Given the description of an element on the screen output the (x, y) to click on. 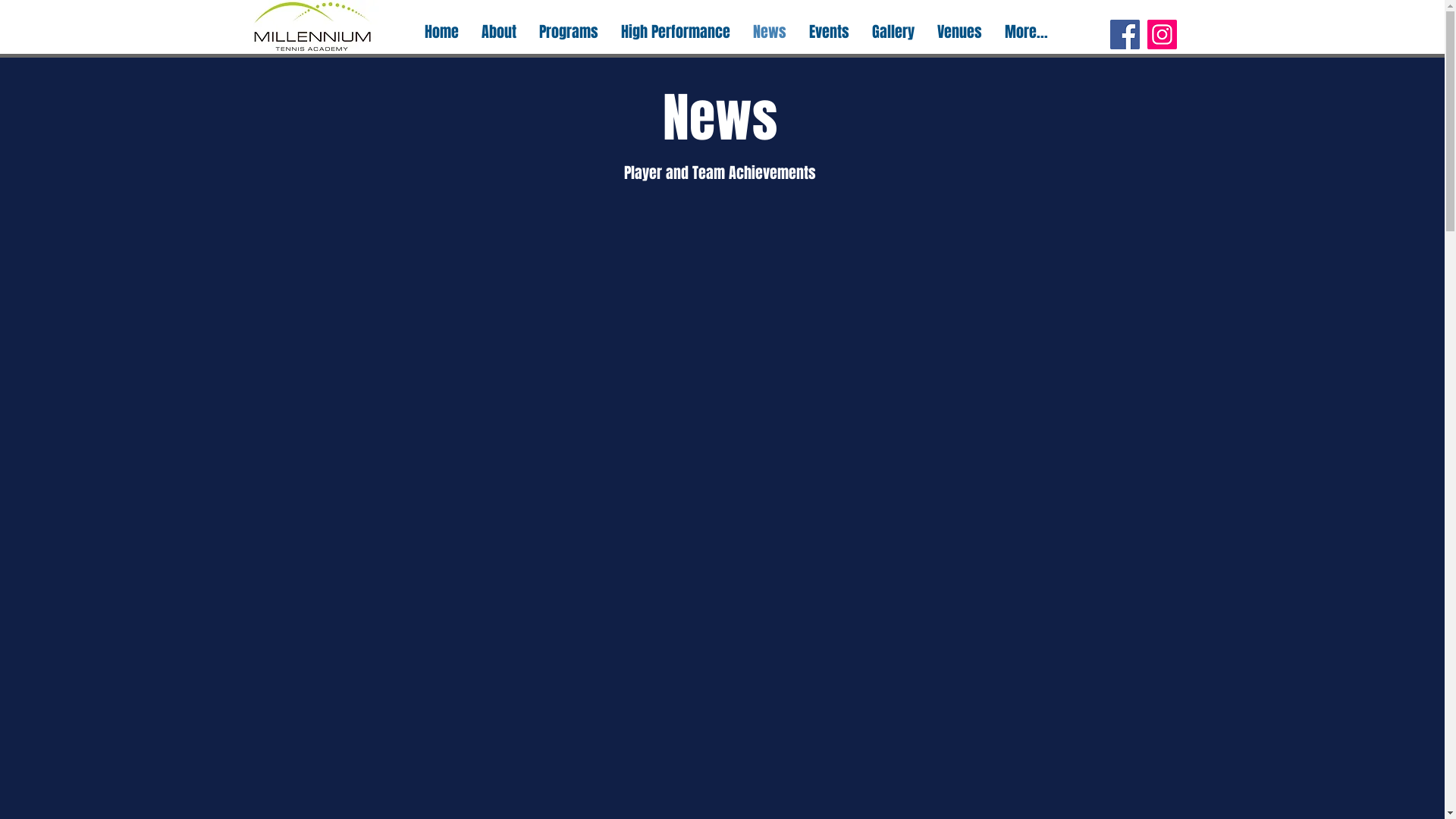
Home Element type: text (441, 32)
Embedded Content Element type: hover (723, 482)
Programs Element type: text (568, 32)
News Element type: text (769, 32)
Events Element type: text (828, 32)
High Performance Element type: text (675, 32)
About Element type: text (498, 32)
Gallery Element type: text (892, 32)
Venues Element type: text (959, 32)
